Given the description of an element on the screen output the (x, y) to click on. 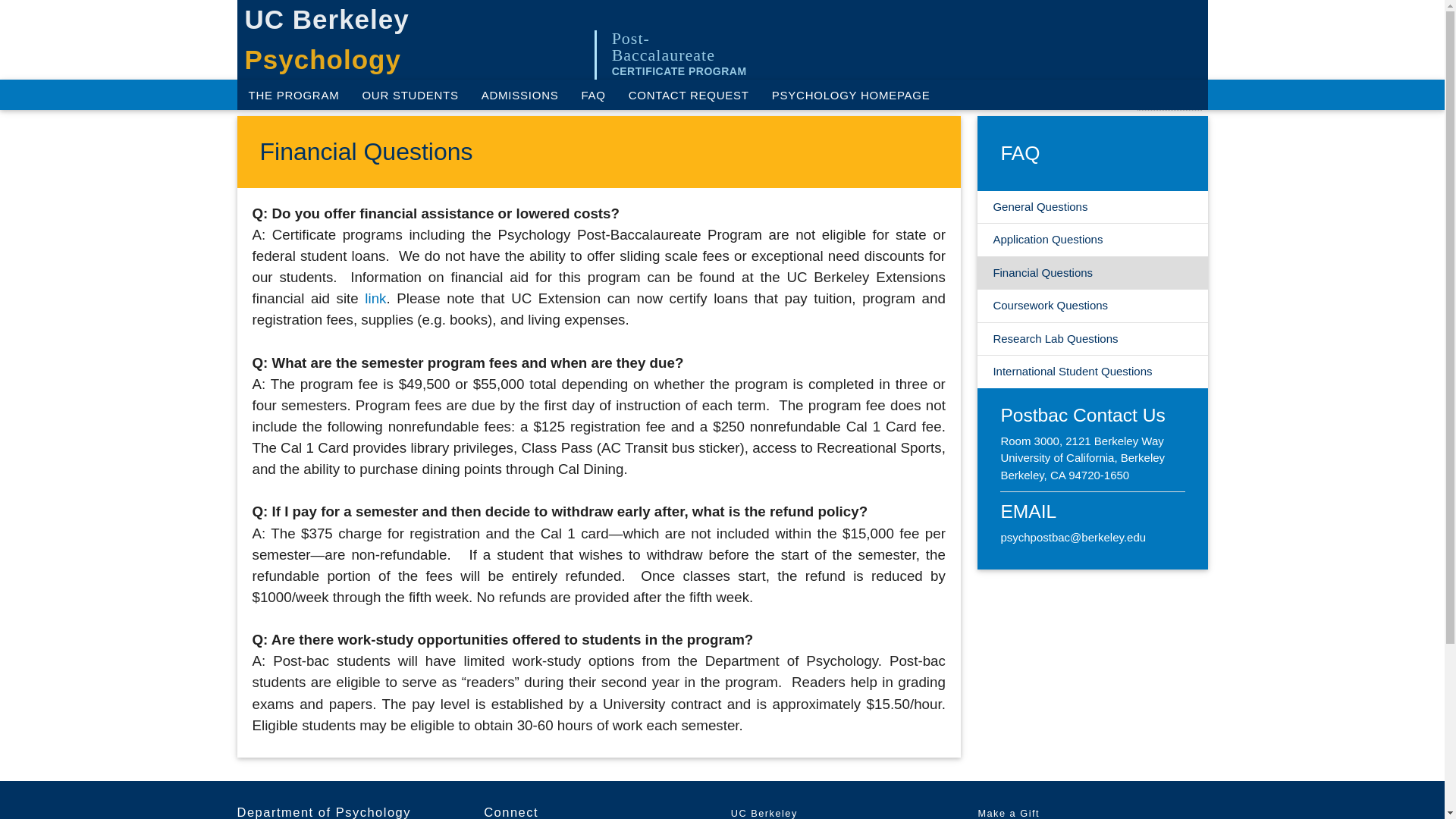
FAQ (592, 94)
Coursework Questions (1091, 305)
General Questions (1091, 206)
ADMISSIONS (520, 94)
THE PROGRAM (292, 94)
OUR STUDENTS (409, 94)
Enter the terms you wish to search for. (1169, 94)
PSYCHOLOGY HOMEPAGE (851, 94)
Search (43, 16)
CONTACT REQUEST (688, 94)
